Given the description of an element on the screen output the (x, y) to click on. 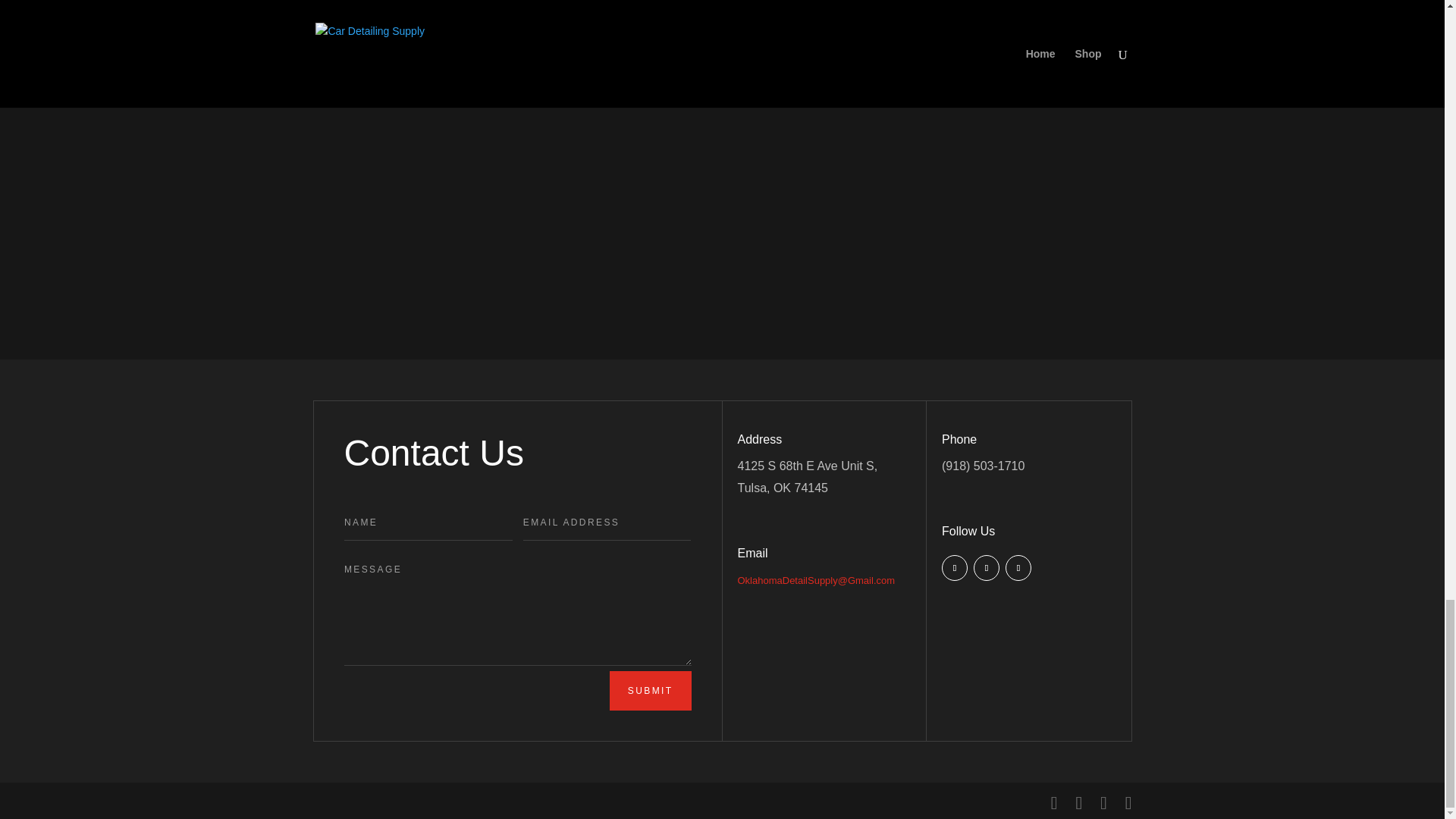
SUBMIT (650, 690)
Follow on Facebook (955, 567)
Follow on Instagram (1018, 567)
Follow on X (986, 567)
